Given the description of an element on the screen output the (x, y) to click on. 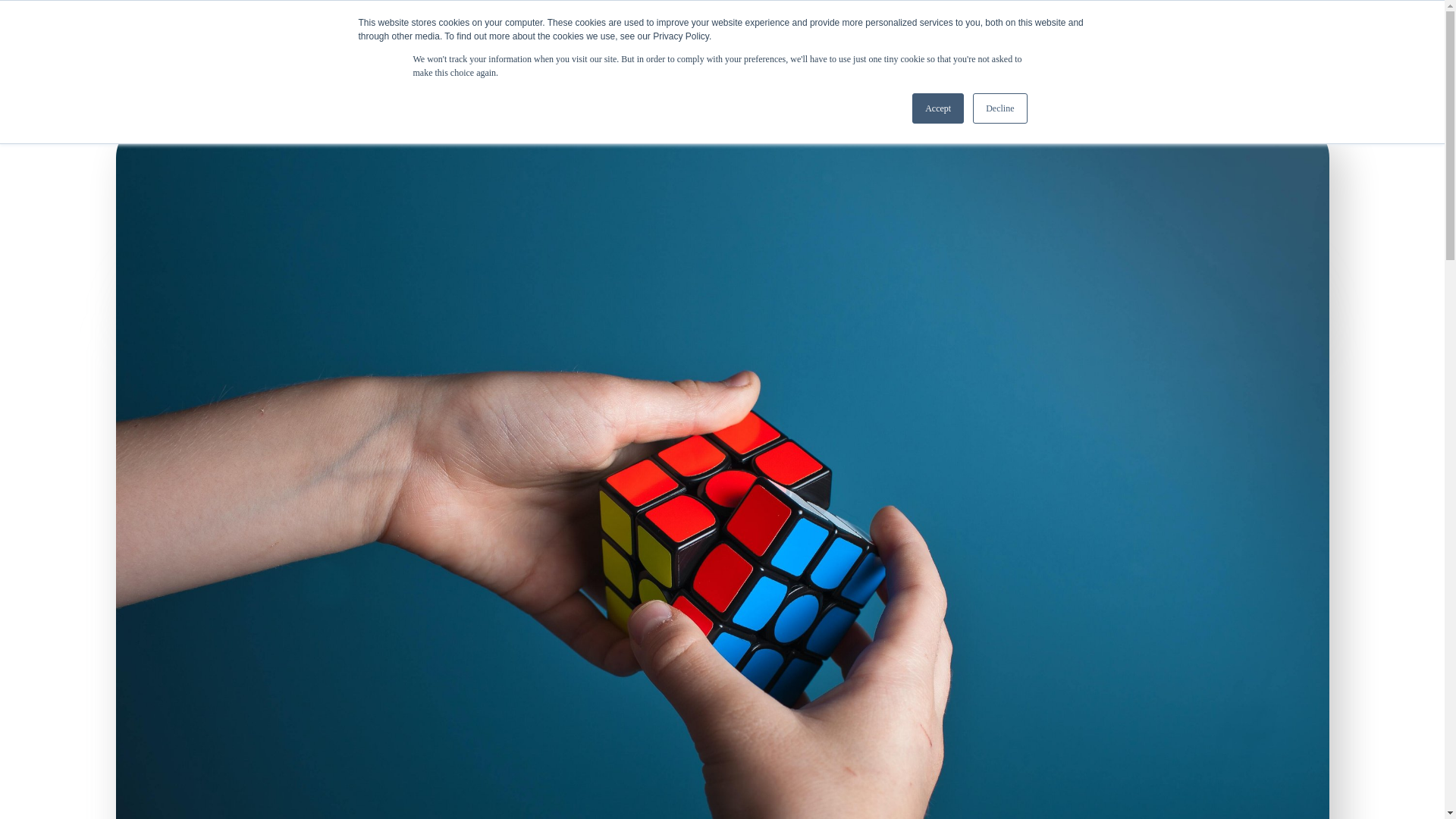
RESOURCES (906, 36)
Accept (937, 108)
BLOG (1044, 36)
THE AXIOM WAY (710, 36)
Decline (999, 108)
ABOUT US (1166, 36)
Schedule A Call (1335, 38)
